Given the description of an element on the screen output the (x, y) to click on. 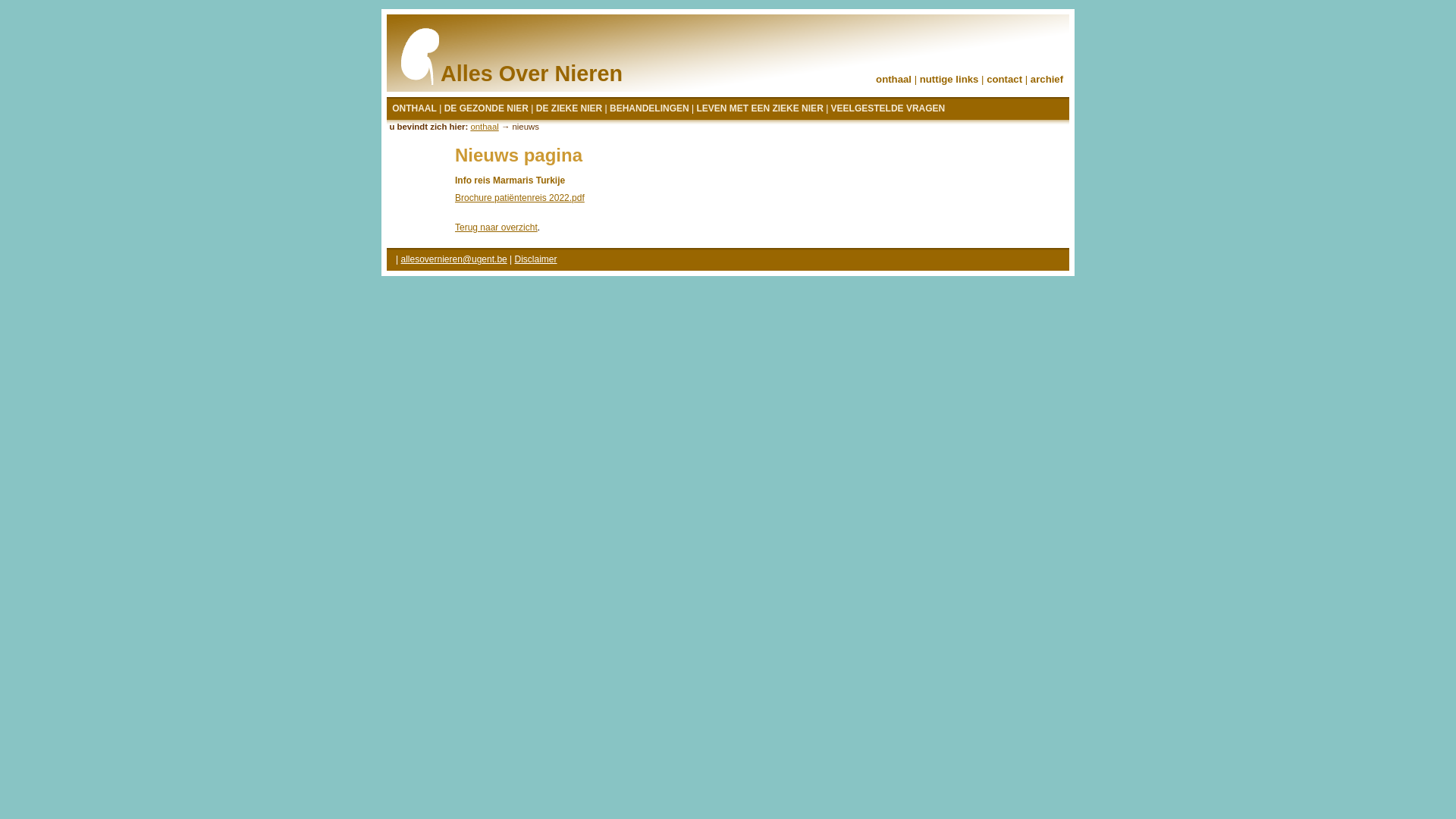
onthaal Element type: text (893, 78)
LEVEN MET EEN ZIEKE NIER Element type: text (759, 109)
archief Element type: text (1046, 78)
ONTHAAL Element type: text (414, 109)
allesovernieren@ugent.be Element type: text (453, 259)
DE ZIEKE NIER Element type: text (569, 109)
Alles Over Nieren Element type: text (525, 57)
Terug naar overzicht Element type: text (496, 227)
VEELGESTELDE VRAGEN Element type: text (888, 109)
Disclaimer Element type: text (535, 259)
BEHANDELINGEN Element type: text (649, 109)
nuttige links Element type: text (949, 78)
DE GEZONDE NIER Element type: text (486, 109)
contact Element type: text (1004, 78)
onthaal Element type: text (484, 126)
